Given the description of an element on the screen output the (x, y) to click on. 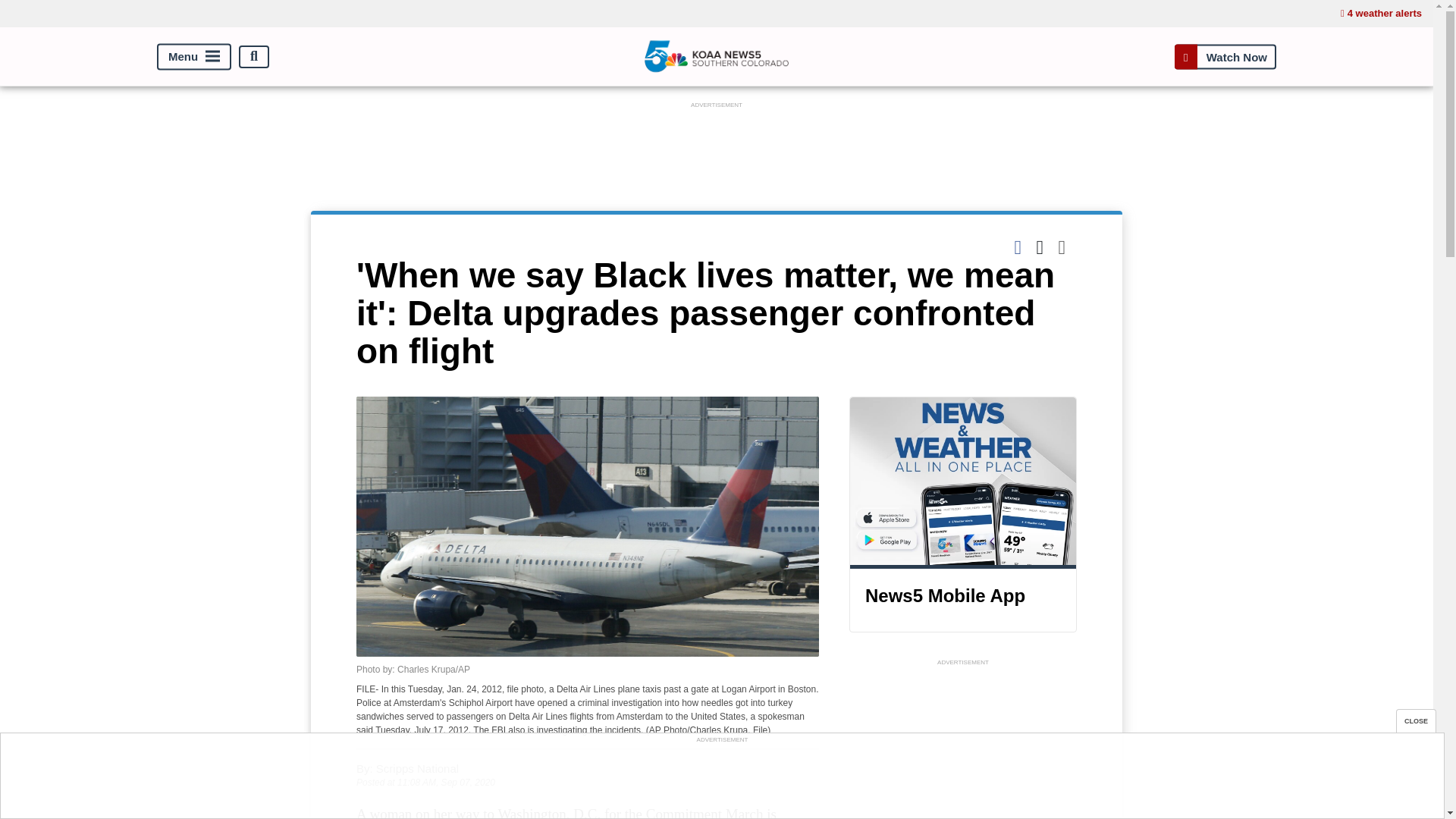
3rd party ad content (716, 146)
Watch Now (1224, 56)
Menu (194, 56)
3rd party ad content (962, 744)
3rd party ad content (721, 780)
